Given the description of an element on the screen output the (x, y) to click on. 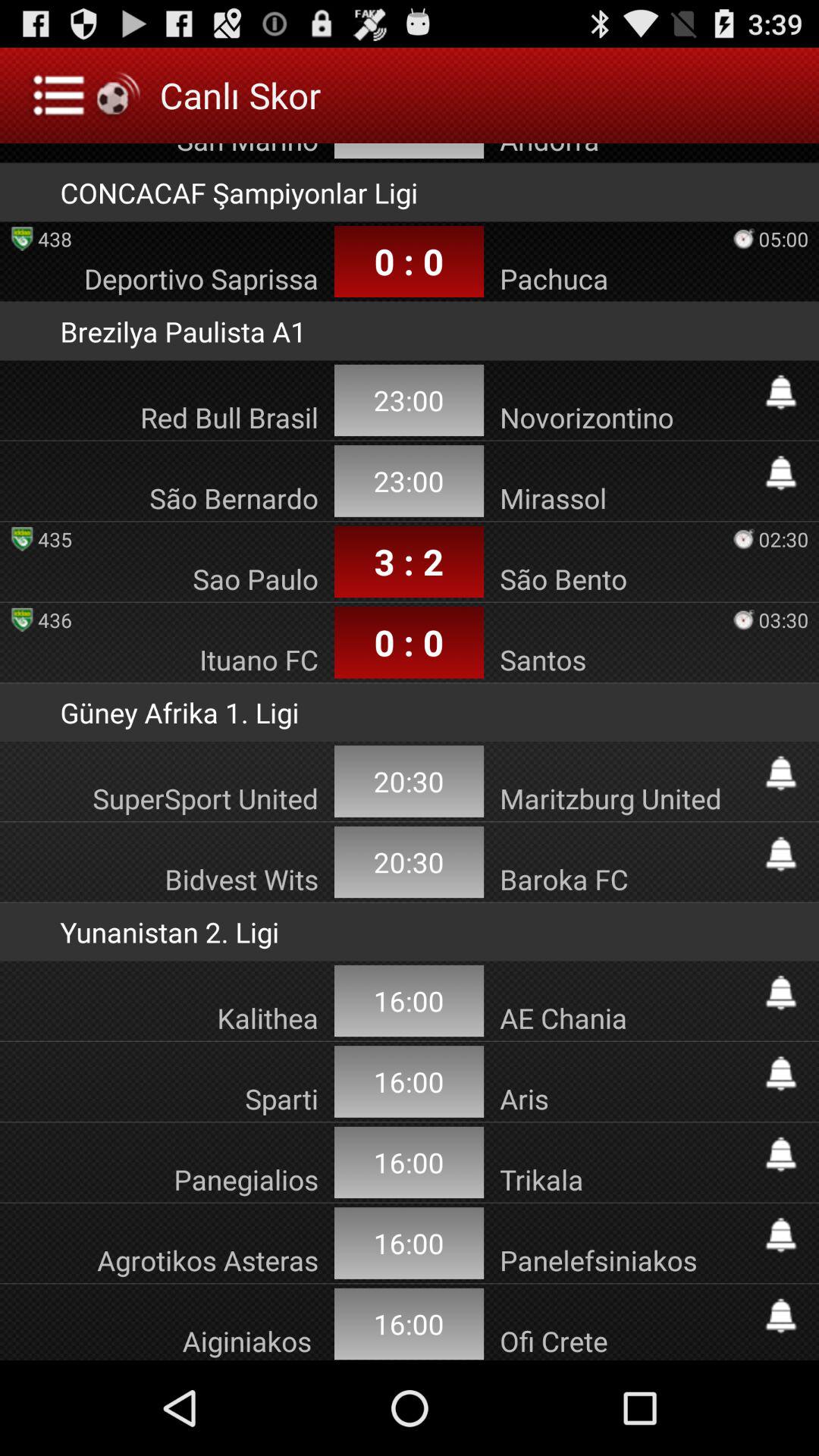
timing button (780, 392)
